Given the description of an element on the screen output the (x, y) to click on. 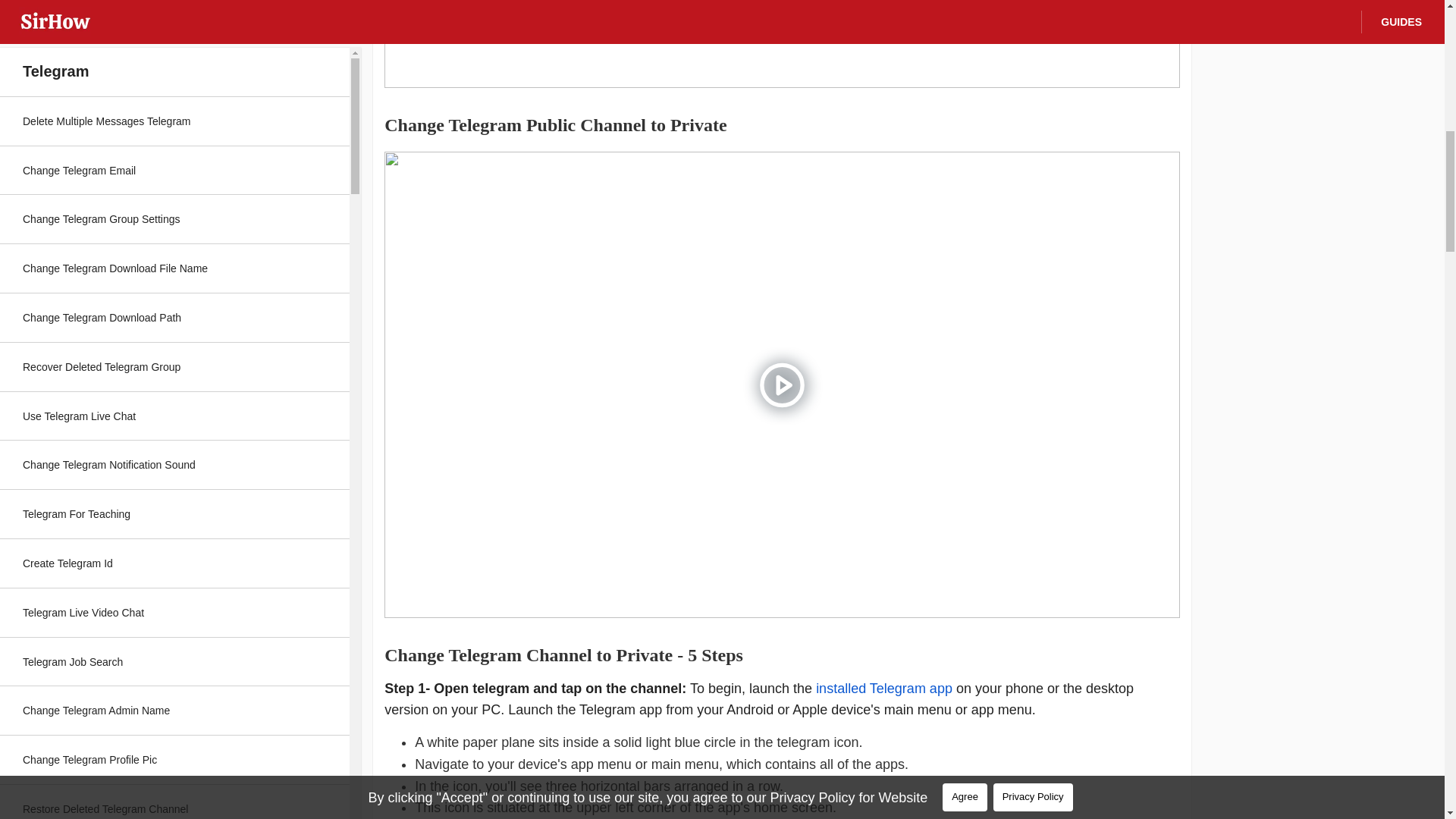
YouTube video player (781, 43)
